Given the description of an element on the screen output the (x, y) to click on. 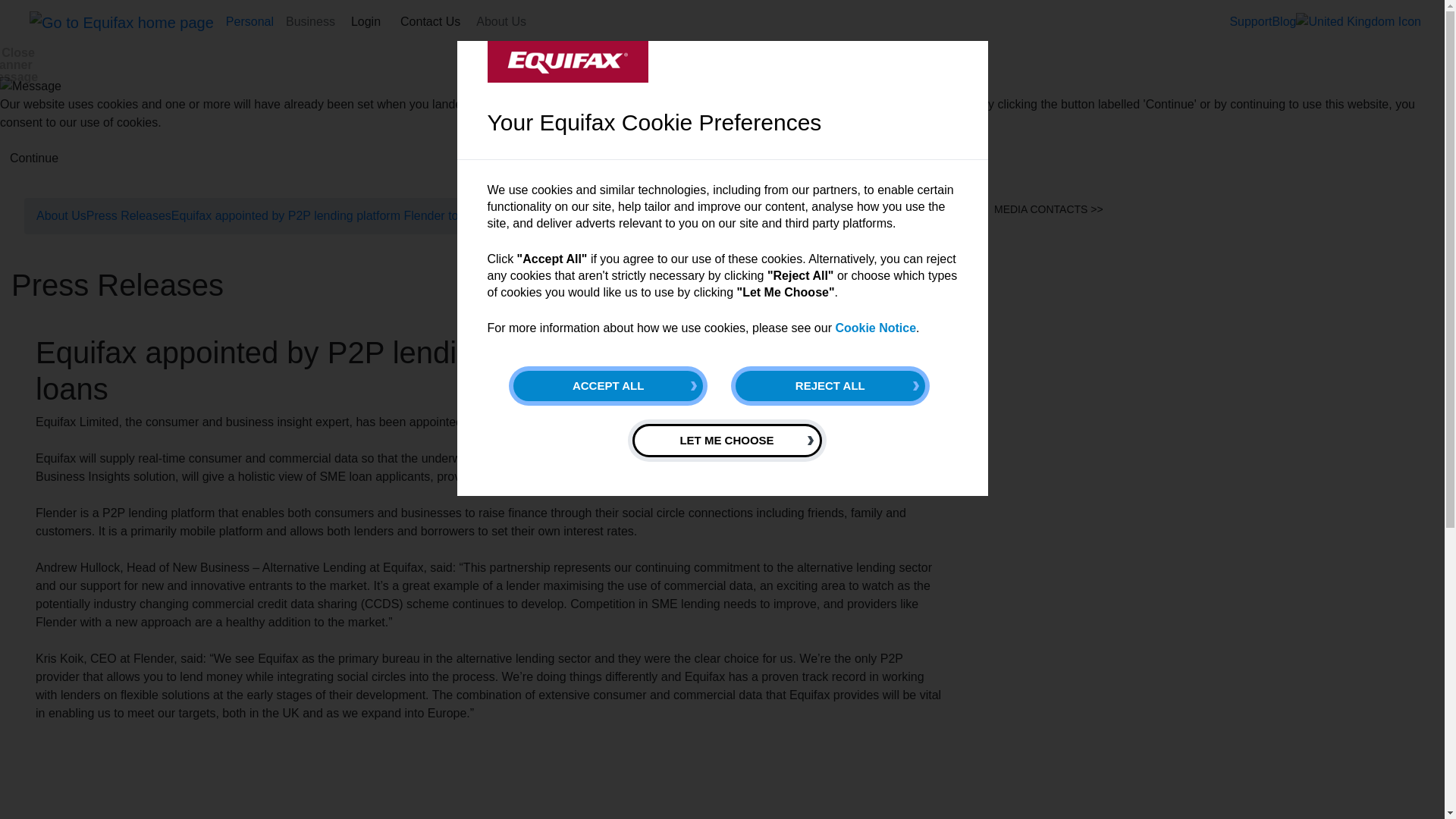
United Kingdom (1358, 22)
Business (309, 21)
About Us (501, 21)
Login (365, 21)
Contact Us (430, 21)
Personal (249, 21)
